Given the description of an element on the screen output the (x, y) to click on. 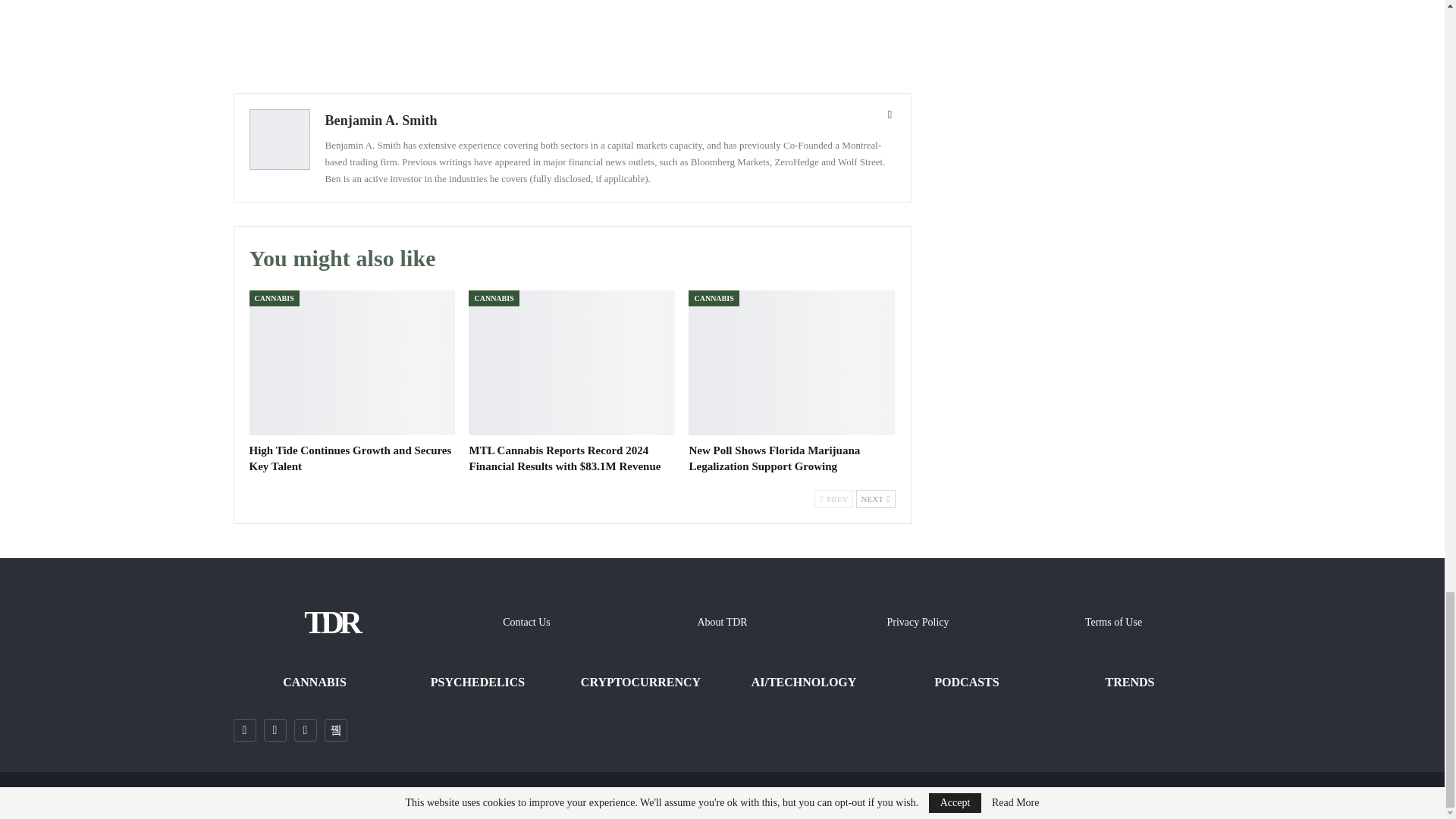
Previous (833, 498)
Advertisement (571, 35)
CANNABIS (273, 298)
